Given the description of an element on the screen output the (x, y) to click on. 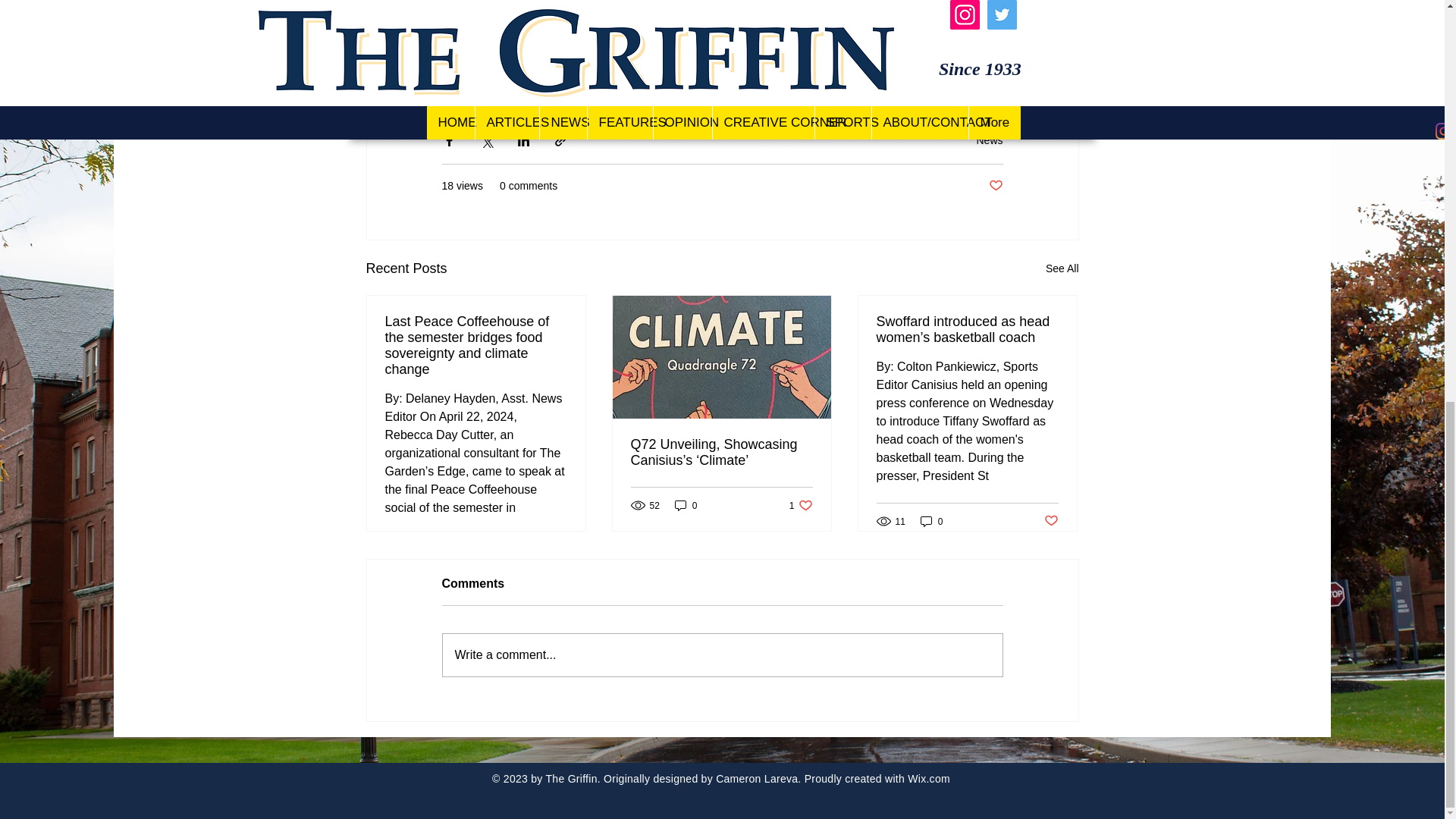
Post not marked as liked (800, 504)
Write a comment... (995, 186)
0 (722, 654)
See All (931, 521)
Post not marked as liked (1061, 268)
0 (1050, 521)
News (685, 504)
